Given the description of an element on the screen output the (x, y) to click on. 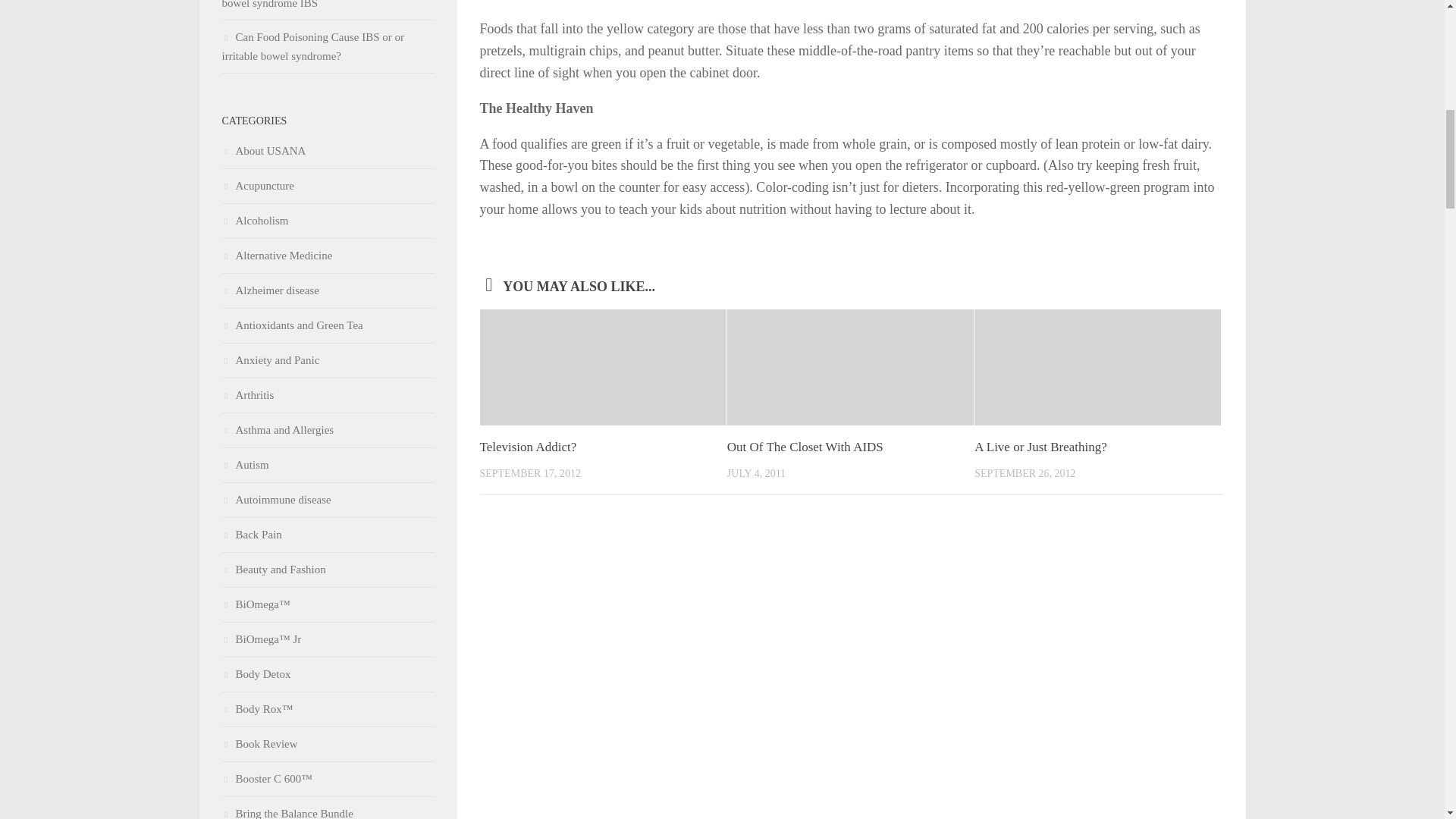
Permalink to Out Of The Closet With AIDS (804, 446)
Permalink to A Live or Just Breathing? (1040, 446)
About USANA company (263, 150)
Permalink to Television Addict? (527, 446)
Television Addict? (527, 446)
A Live or Just Breathing? (1040, 446)
Out Of The Closet With AIDS (804, 446)
